Given the description of an element on the screen output the (x, y) to click on. 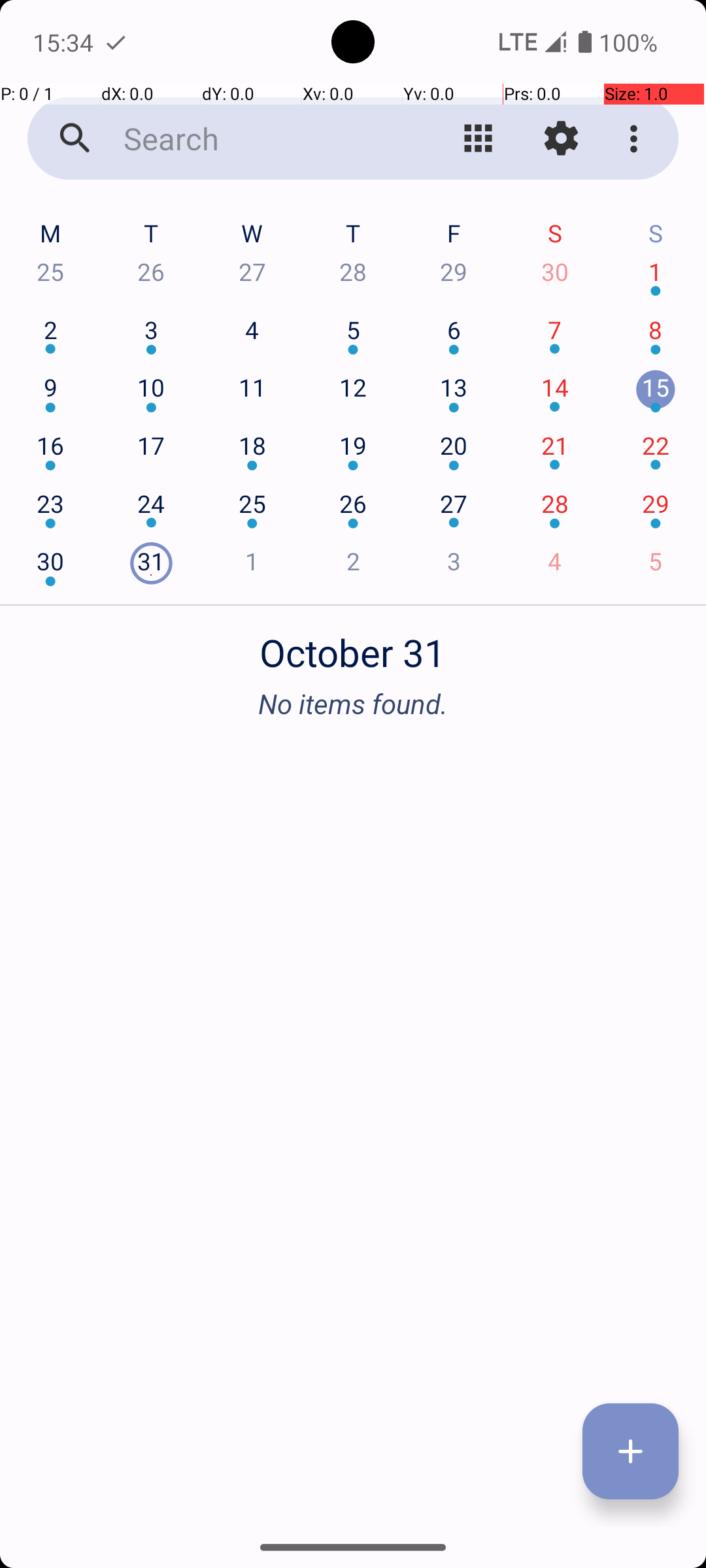
October 31 Element type: android.widget.TextView (352, 644)
